Given the description of an element on the screen output the (x, y) to click on. 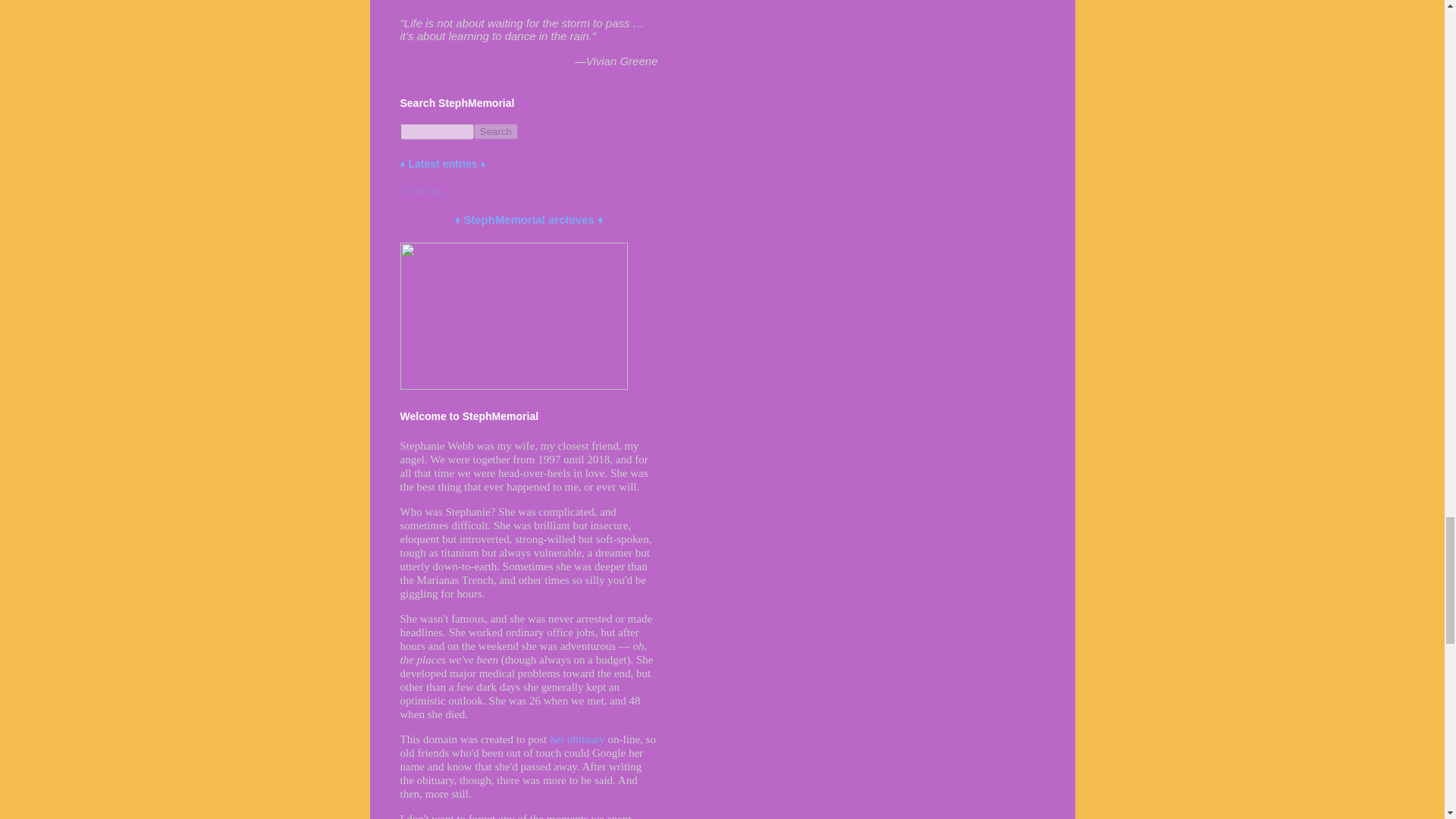
Search (494, 131)
Search (494, 131)
search (437, 131)
search (494, 131)
her obituary (577, 739)
Loading... (424, 189)
Search (494, 131)
